Given the description of an element on the screen output the (x, y) to click on. 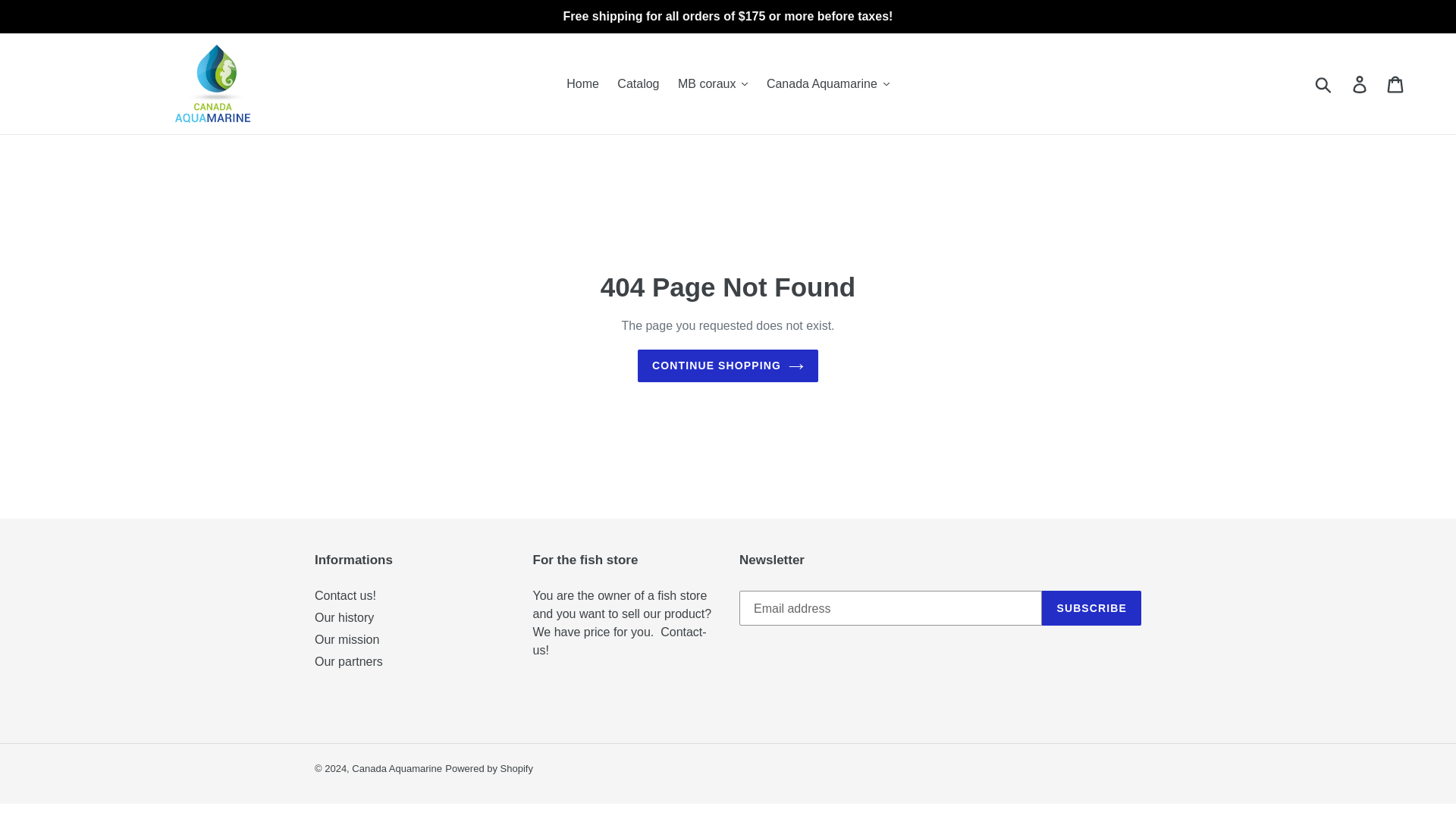
Catalog (638, 83)
Log in (1360, 82)
Cart (1395, 82)
Home (583, 83)
Submit (1324, 82)
CONTINUE SHOPPING (727, 365)
